Given the description of an element on the screen output the (x, y) to click on. 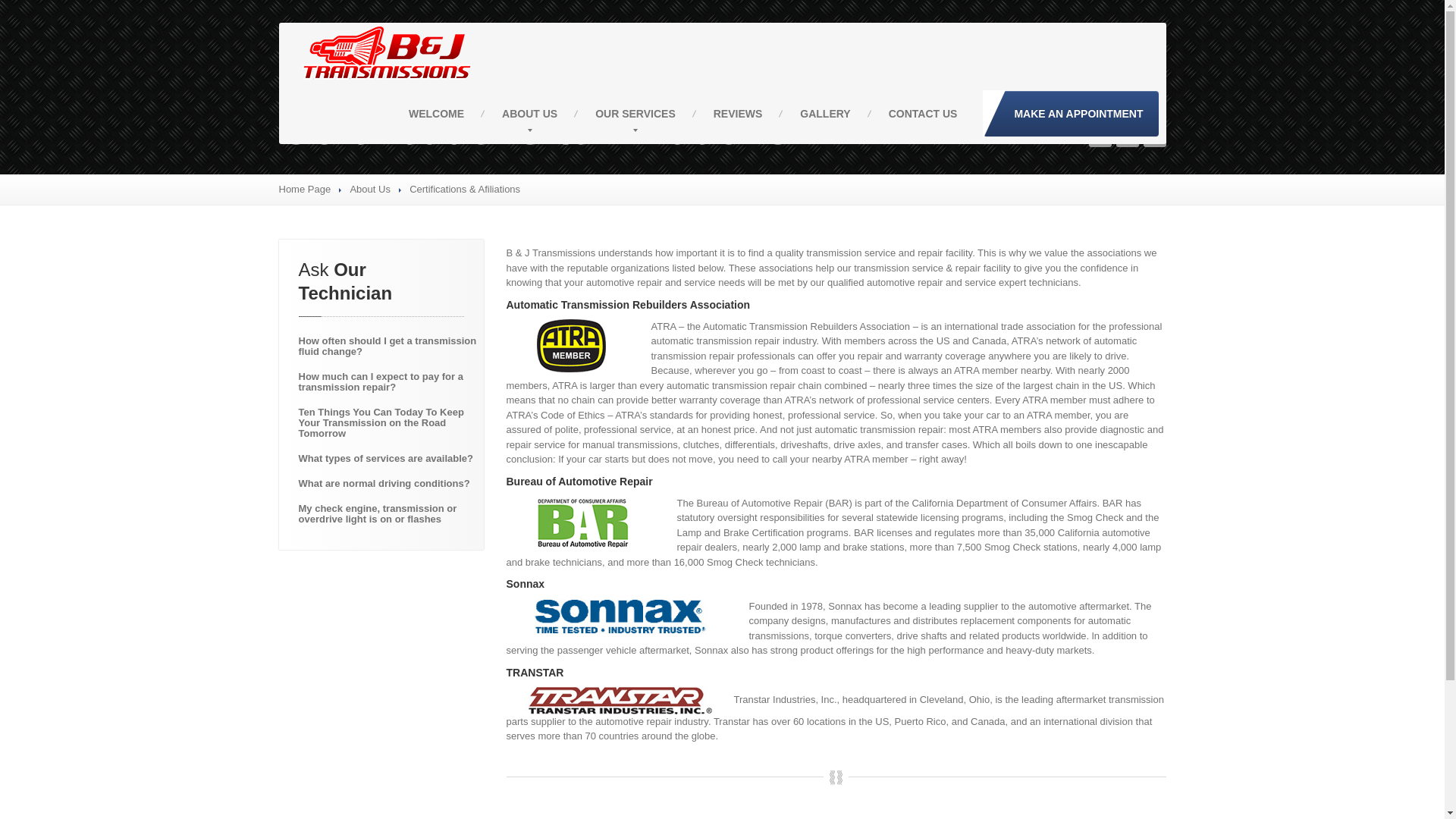
ABOUT US (529, 113)
GALLERY (824, 113)
OUR SERVICES (635, 113)
What are normal driving conditions? (386, 483)
How much can I expect to pay for a transmission repair? (386, 381)
CONTACT US (922, 113)
About Us (369, 188)
REVIEWS (737, 113)
Home Page (305, 188)
